Given the description of an element on the screen output the (x, y) to click on. 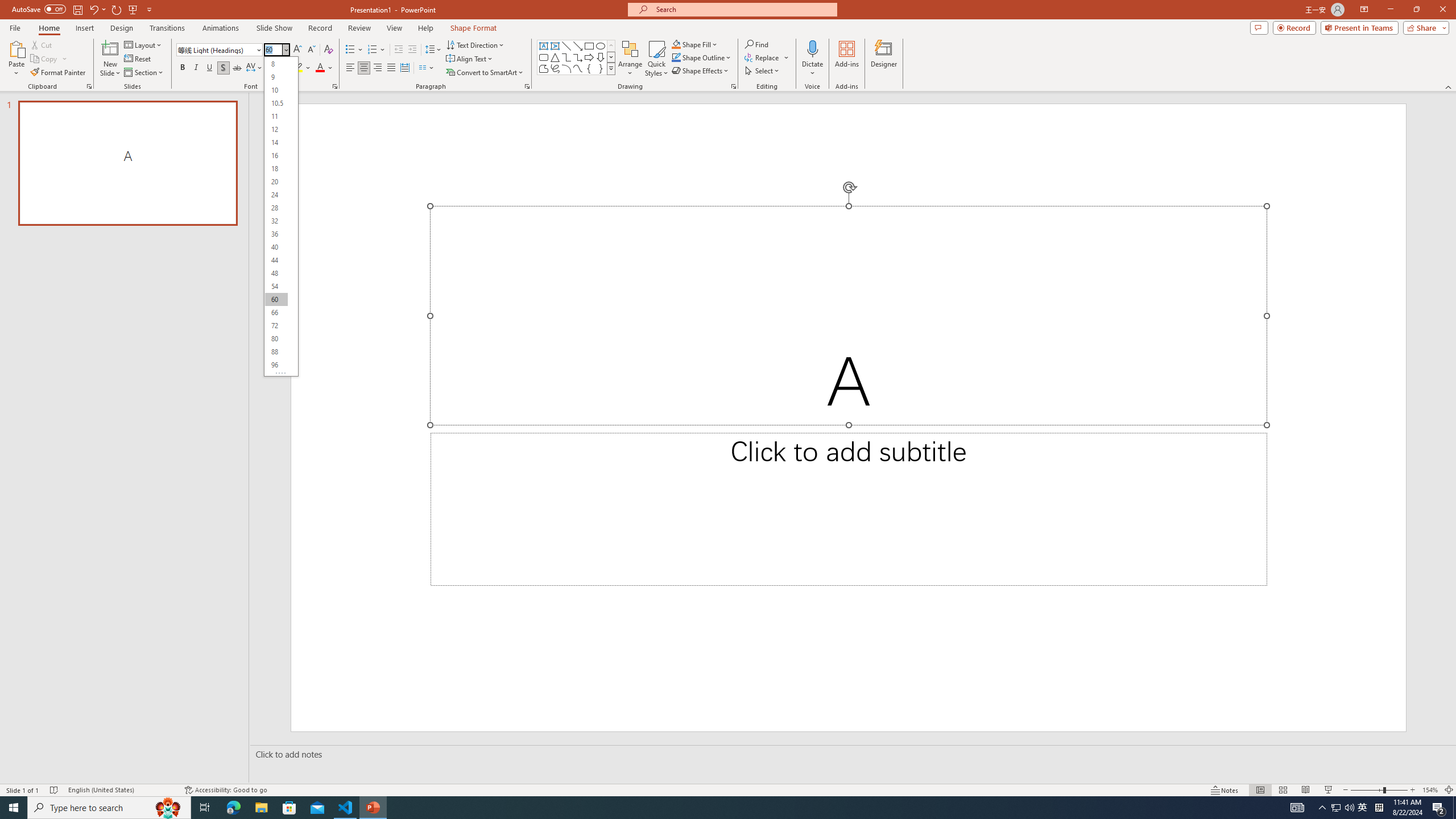
72 (276, 325)
54 (276, 286)
10.5 (276, 102)
